Given the description of an element on the screen output the (x, y) to click on. 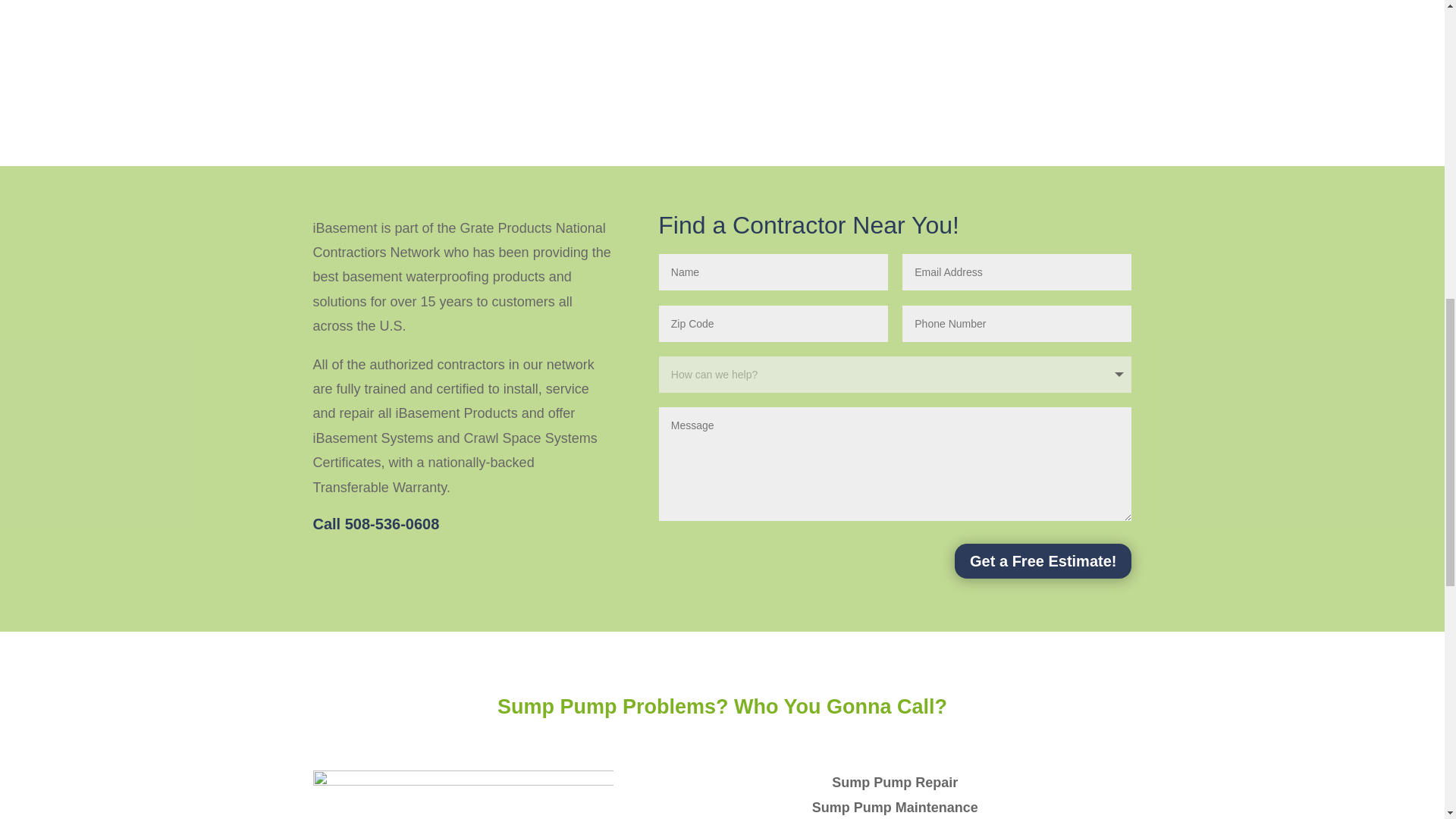
Get a Free Estimate! (1043, 560)
508-536-0608 (392, 523)
sumppumpgeeks-logo-master (462, 794)
74608-select-basement (405, 43)
